Given the description of an element on the screen output the (x, y) to click on. 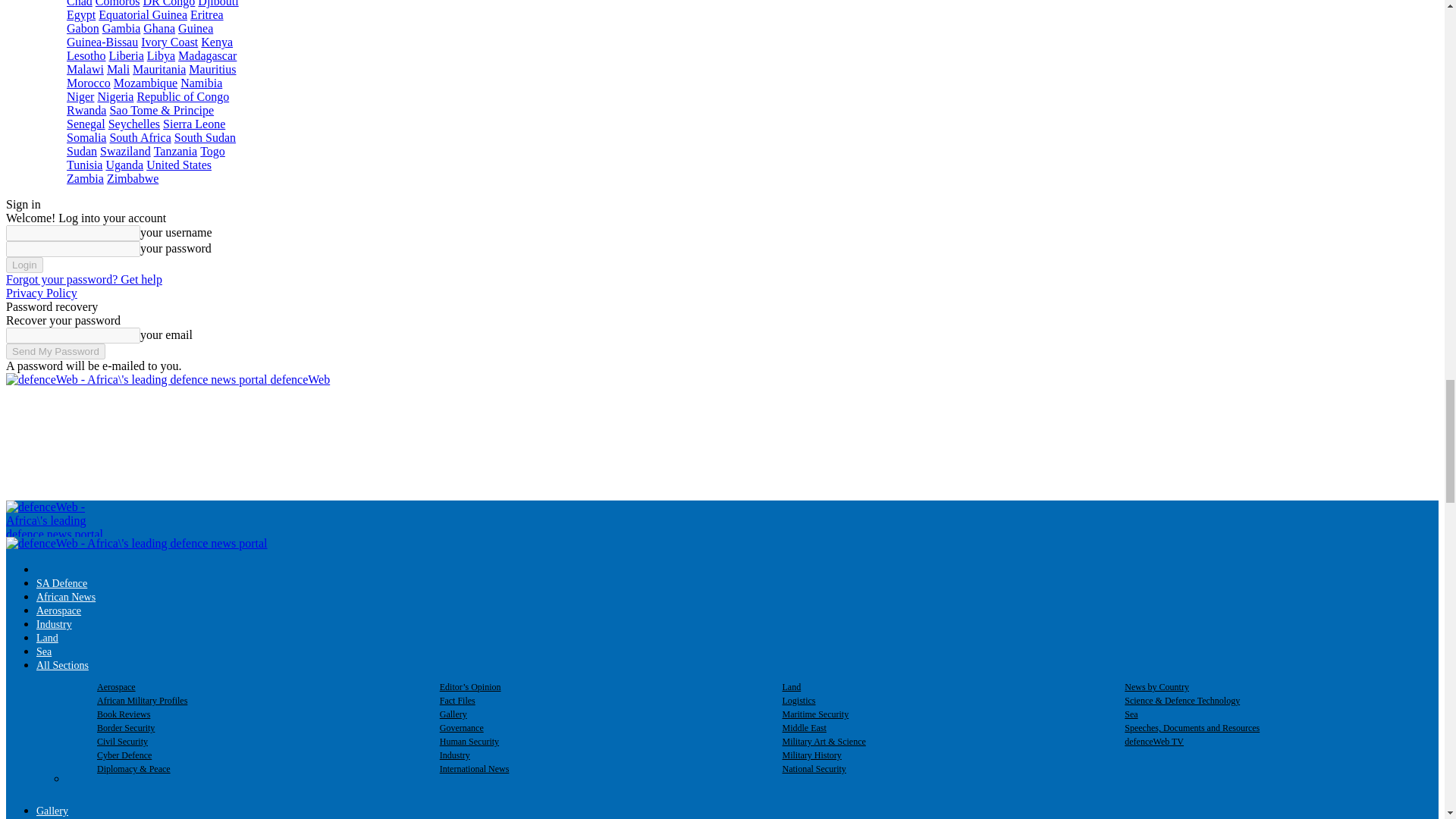
Send My Password (54, 351)
Login (24, 264)
